Given the description of an element on the screen output the (x, y) to click on. 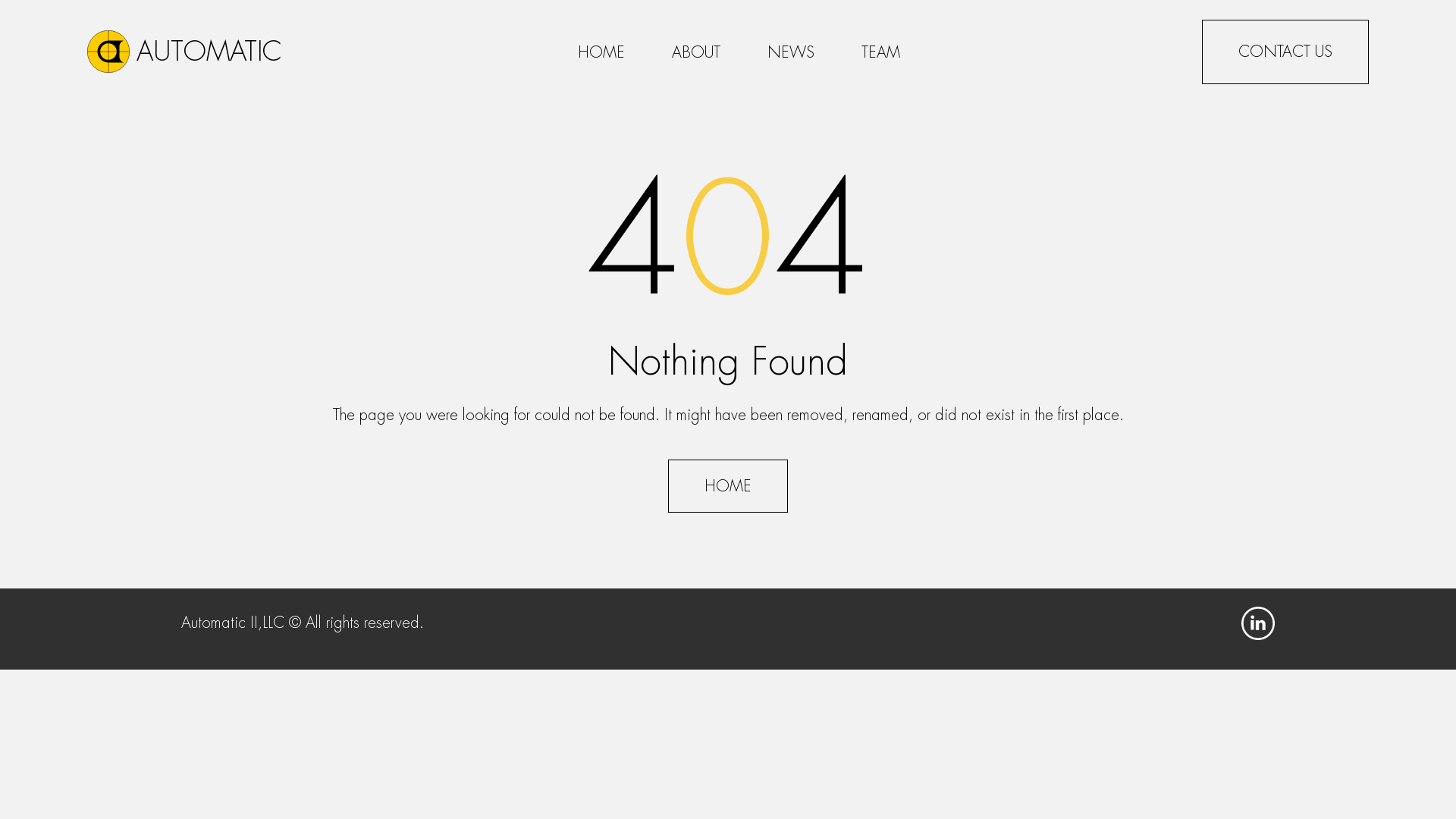
HOME Element type: text (600, 55)
AUTOMATIC Element type: text (192, 51)
NEWS Element type: text (790, 55)
HOME Element type: text (727, 485)
CONTACT US Element type: text (1284, 51)
TEAM Element type: text (880, 55)
ABOUT Element type: text (695, 55)
